Given the description of an element on the screen output the (x, y) to click on. 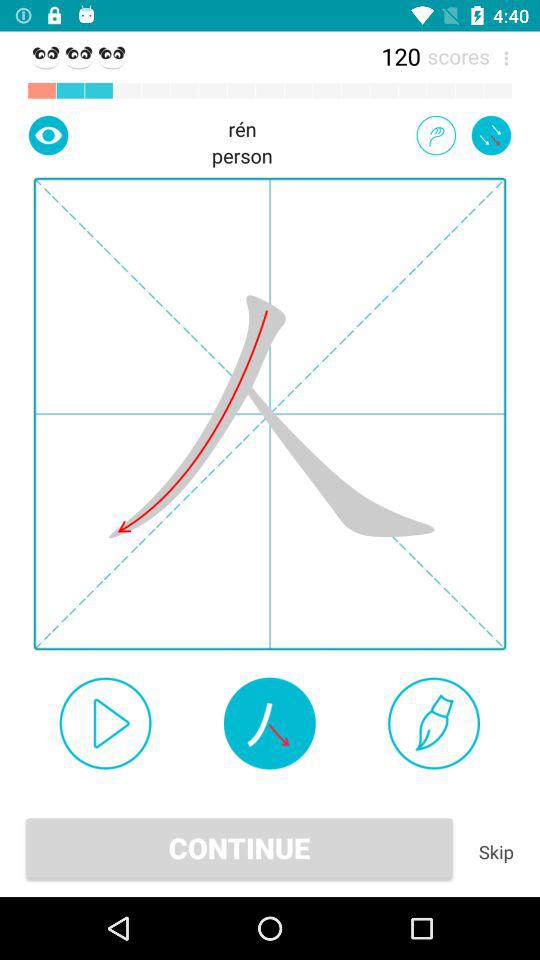
play (105, 723)
